Given the description of an element on the screen output the (x, y) to click on. 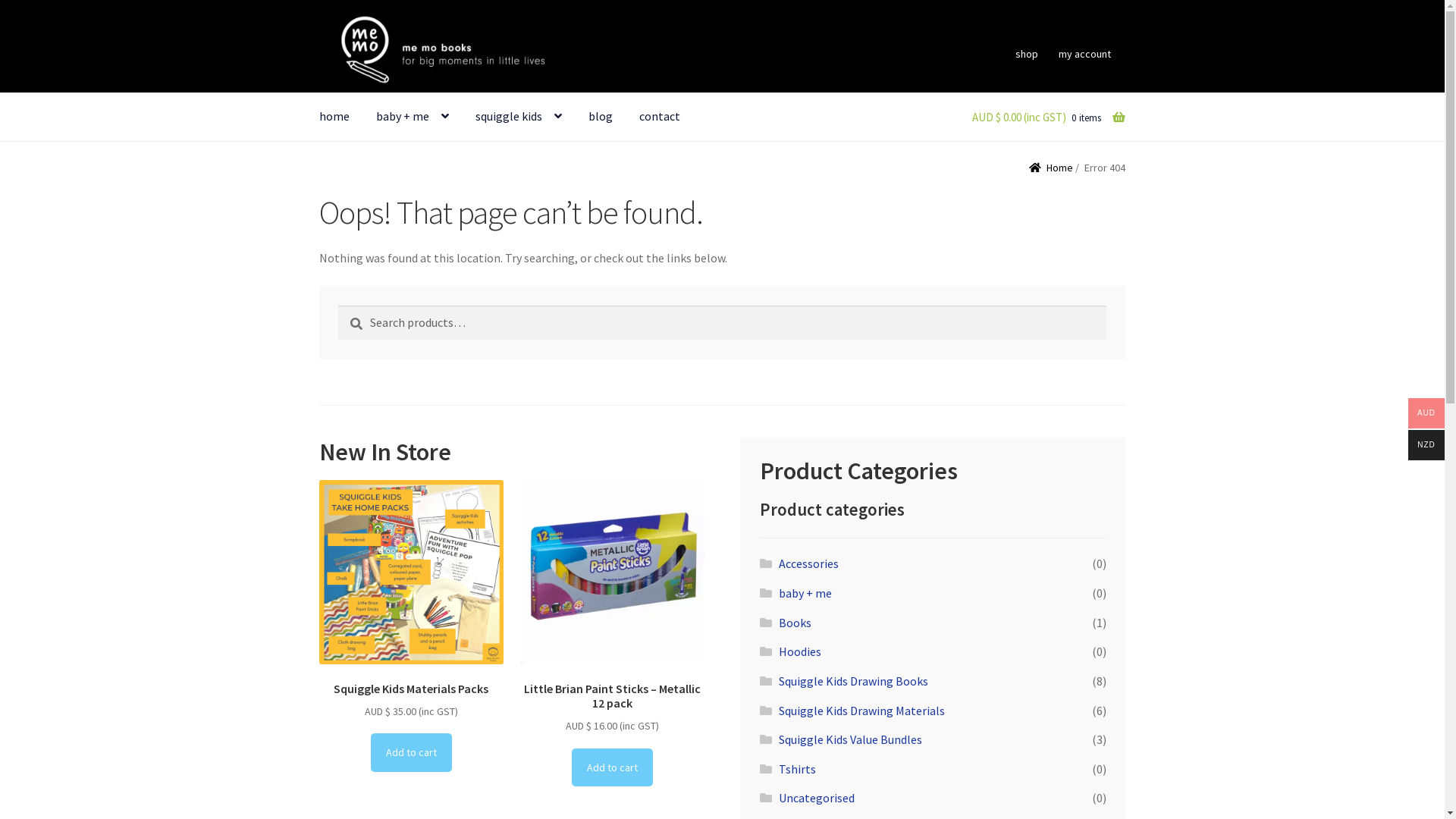
Squiggle Kids Drawing Materials Element type: text (861, 710)
home Element type: text (334, 116)
Add to cart Element type: text (611, 767)
contact Element type: text (659, 116)
my account Element type: text (1084, 53)
Search Element type: text (337, 304)
Hoodies Element type: text (799, 650)
Squiggle Kids Materials Packs
AUD $ 35.00 (inc GST) Element type: text (411, 600)
baby + me Element type: text (804, 592)
shop Element type: text (1027, 53)
Skip to navigation Element type: text (318, 14)
Uncategorised Element type: text (816, 797)
squiggle kids Element type: text (518, 116)
Home Element type: text (1051, 167)
Add to cart Element type: text (410, 752)
Squiggle Kids Drawing Books Element type: text (853, 680)
Accessories Element type: text (808, 563)
blog Element type: text (600, 116)
Tshirts Element type: text (796, 768)
Books Element type: text (794, 622)
baby + me Element type: text (412, 116)
Squiggle Kids Value Bundles Element type: text (850, 738)
AUD $ 0.00 (inc GST) 0 items Element type: text (1037, 117)
